Given the description of an element on the screen output the (x, y) to click on. 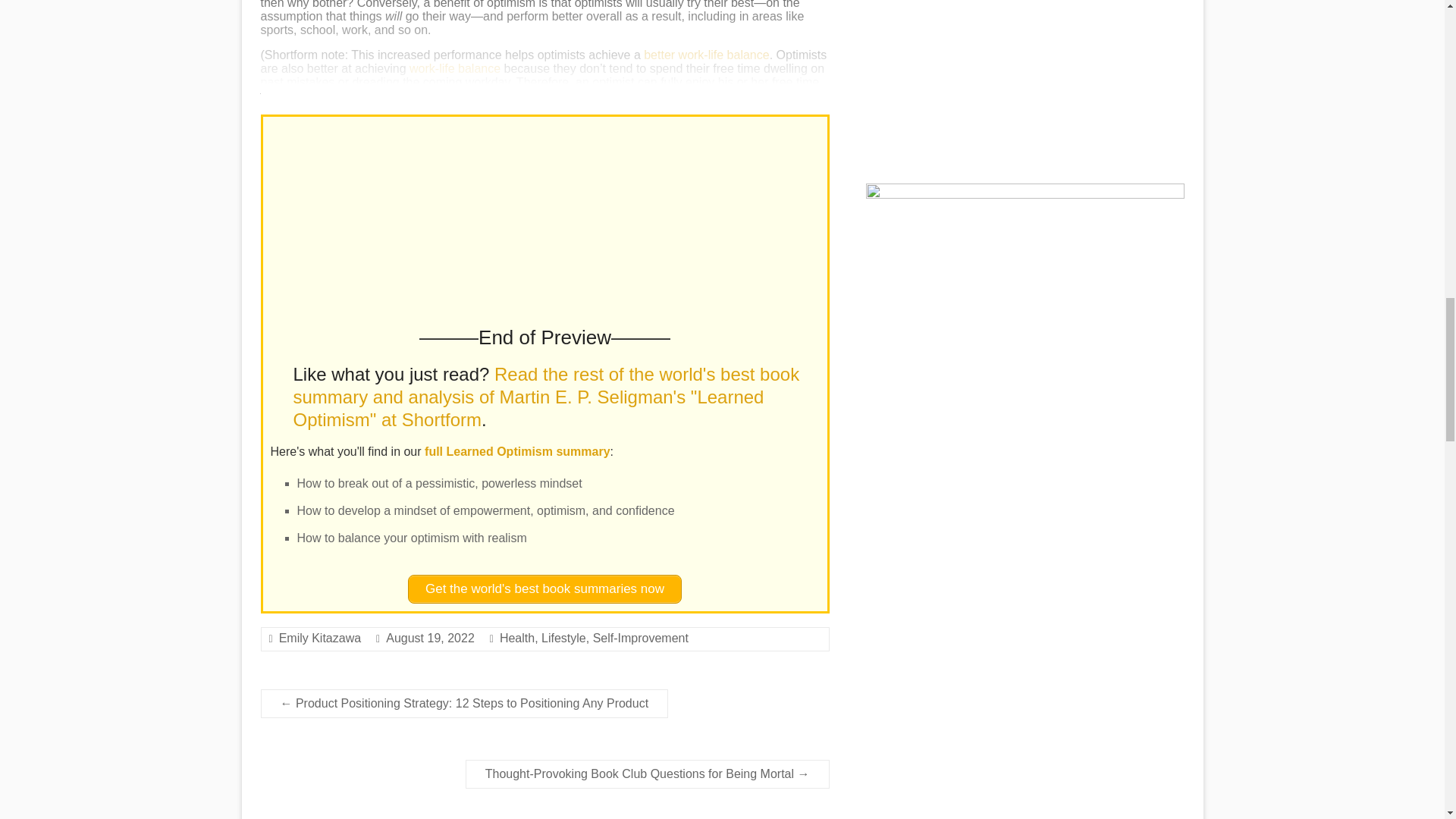
Emily Kitazawa (320, 637)
Lifestyle (563, 637)
full Learned Optimism summary (517, 451)
Get the world's best book summaries now (544, 588)
better work-life balance (705, 54)
7:28 pm (429, 637)
Self-Improvement (640, 637)
Health (516, 637)
work-life balance (454, 68)
August 19, 2022 (429, 637)
